Given the description of an element on the screen output the (x, y) to click on. 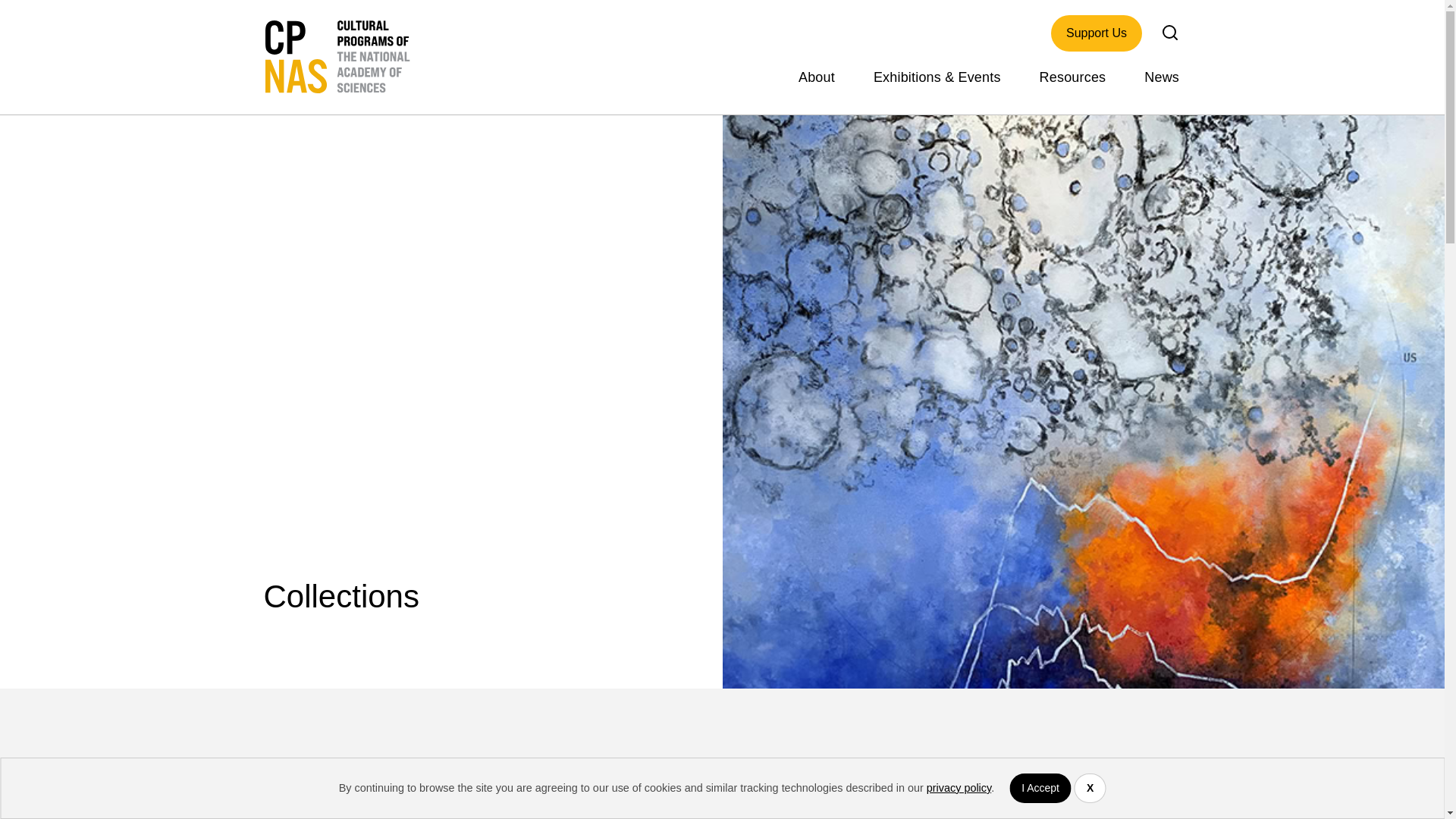
About (815, 75)
Search (1169, 31)
X (1089, 788)
News (1152, 75)
privacy policy (958, 787)
I Accept (1040, 788)
Resources (1072, 75)
Support Us (1095, 33)
CPNAS-logo (341, 56)
